Given the description of an element on the screen output the (x, y) to click on. 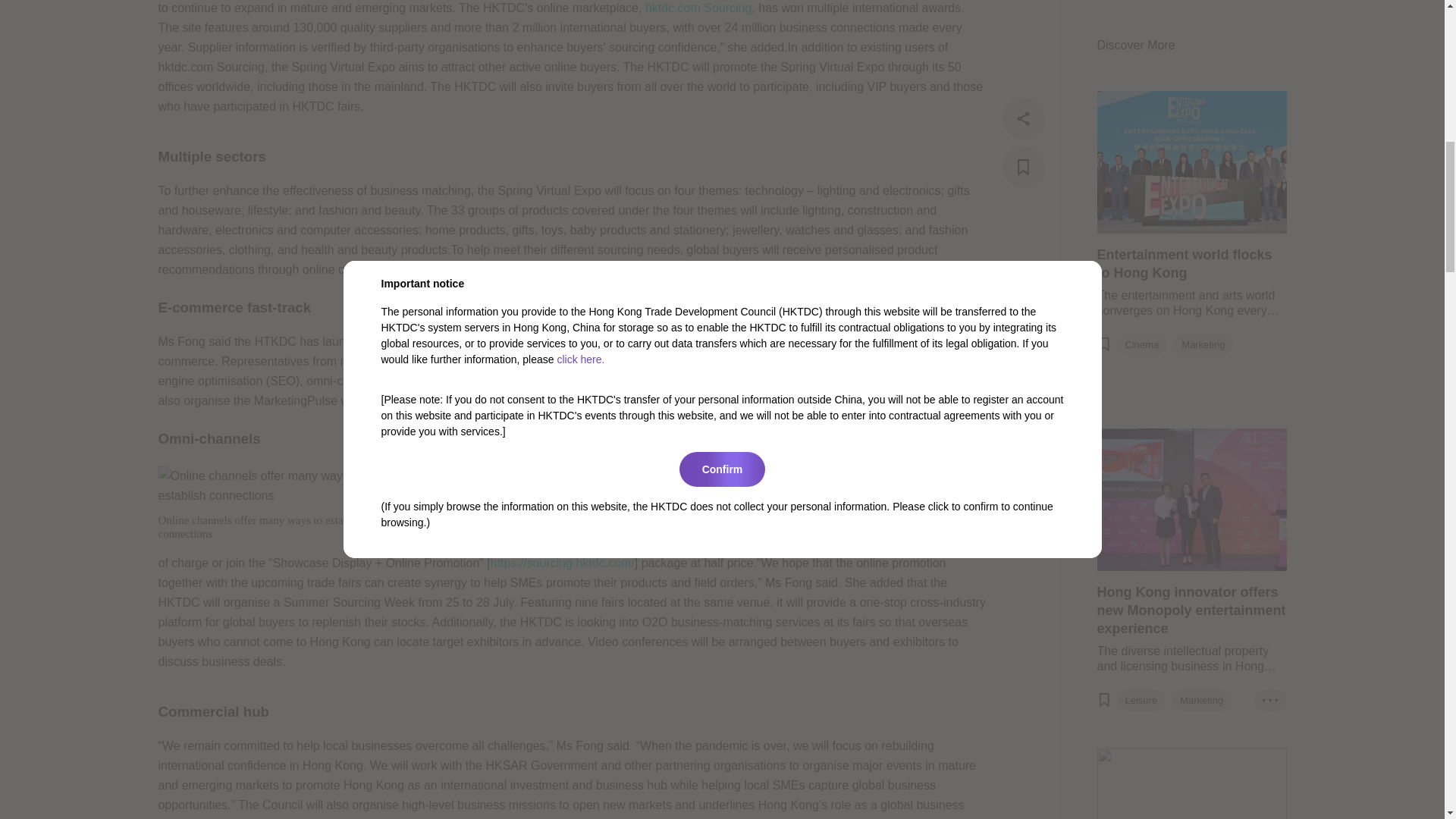
Marketing (1201, 13)
Leisure (1141, 13)
Online channels offer many ways to establish connections (271, 486)
Innovation (1179, 313)
